Given the description of an element on the screen output the (x, y) to click on. 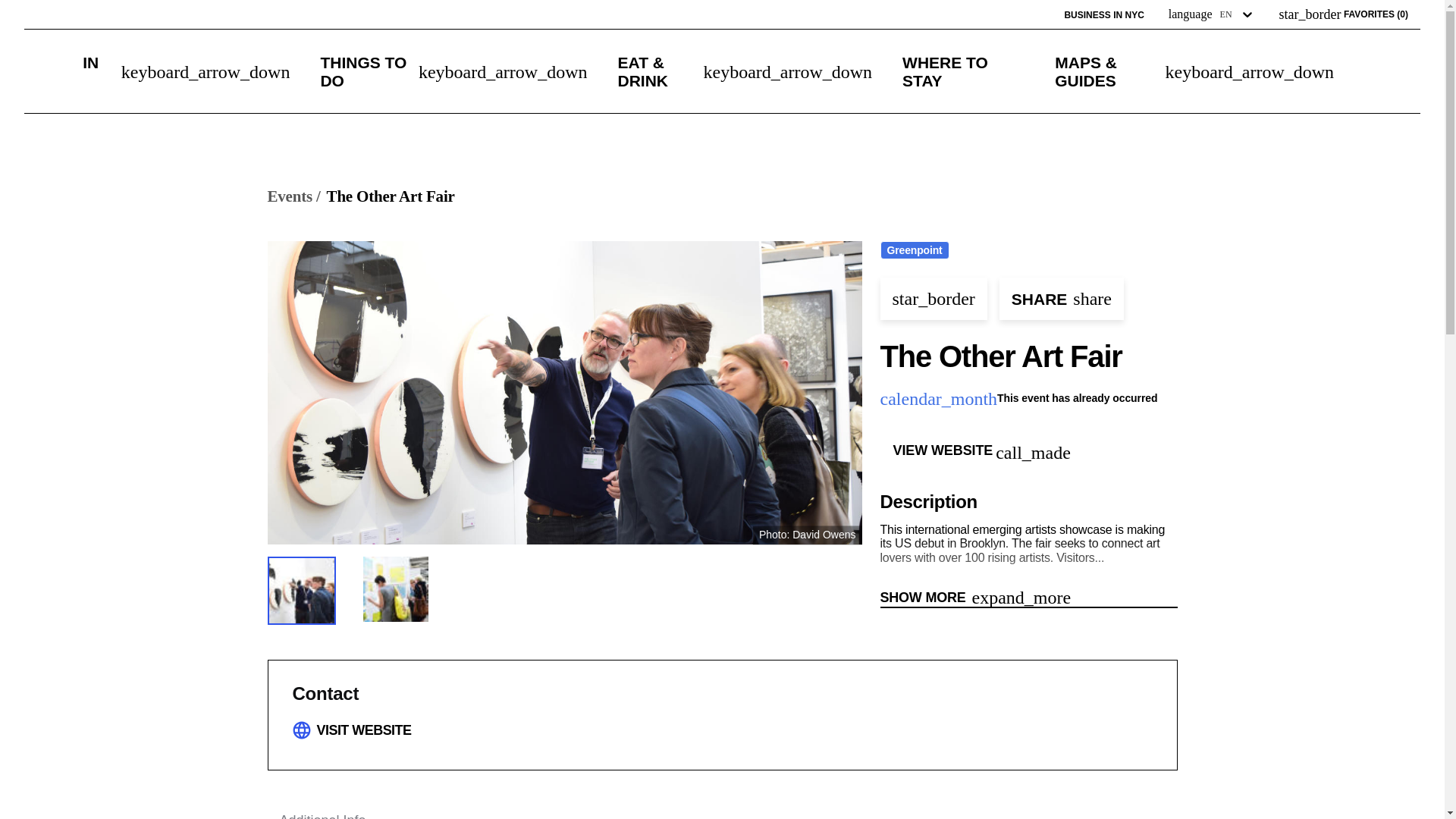
VISIT WEBSITE (364, 730)
The Other Art Fair (390, 196)
Skip to main content (78, 11)
Additional Info (321, 812)
BUSINESS IN NYC (1103, 14)
